Given the description of an element on the screen output the (x, y) to click on. 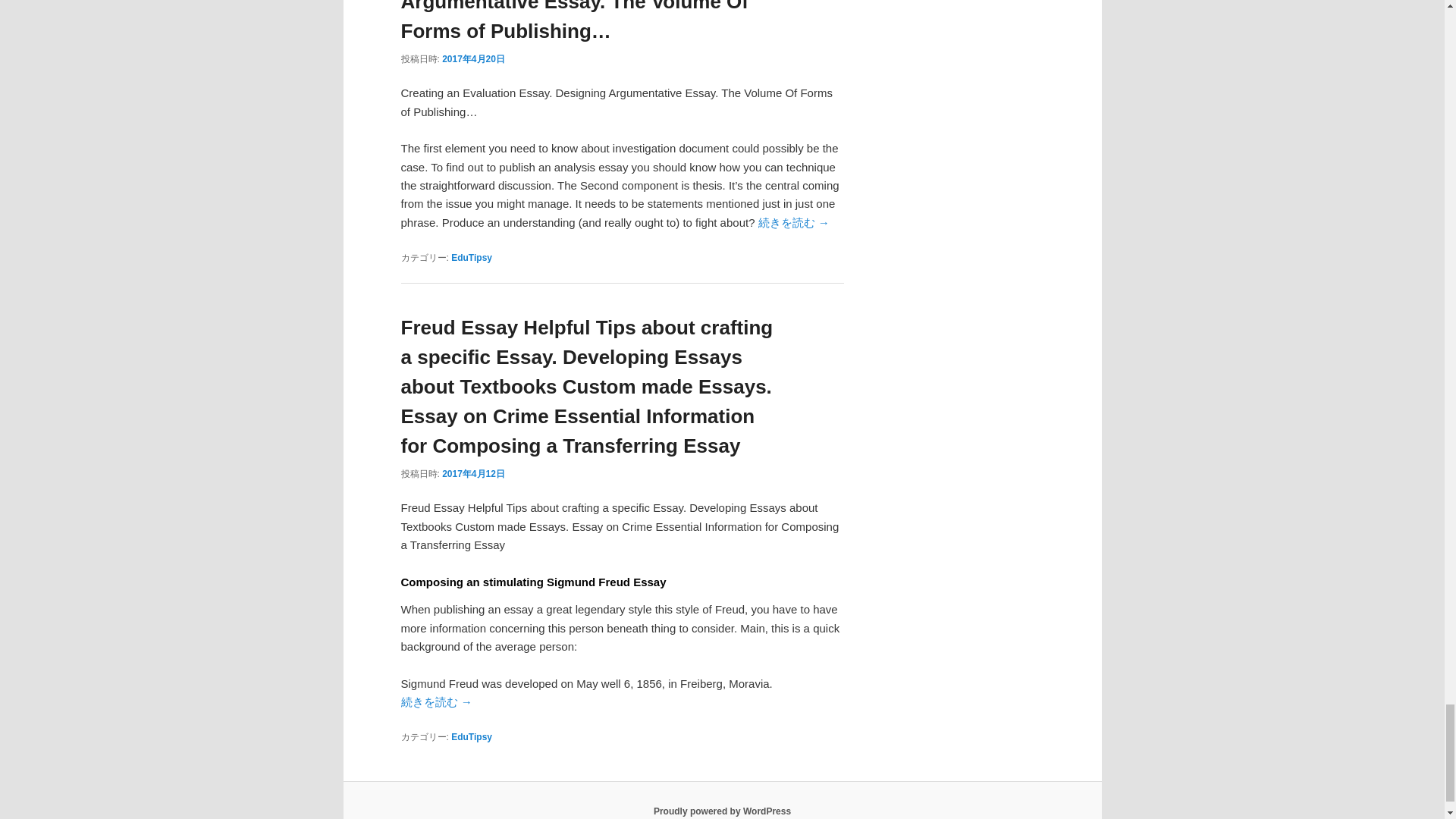
6:17 AM (473, 59)
5:20 AM (473, 473)
